Given the description of an element on the screen output the (x, y) to click on. 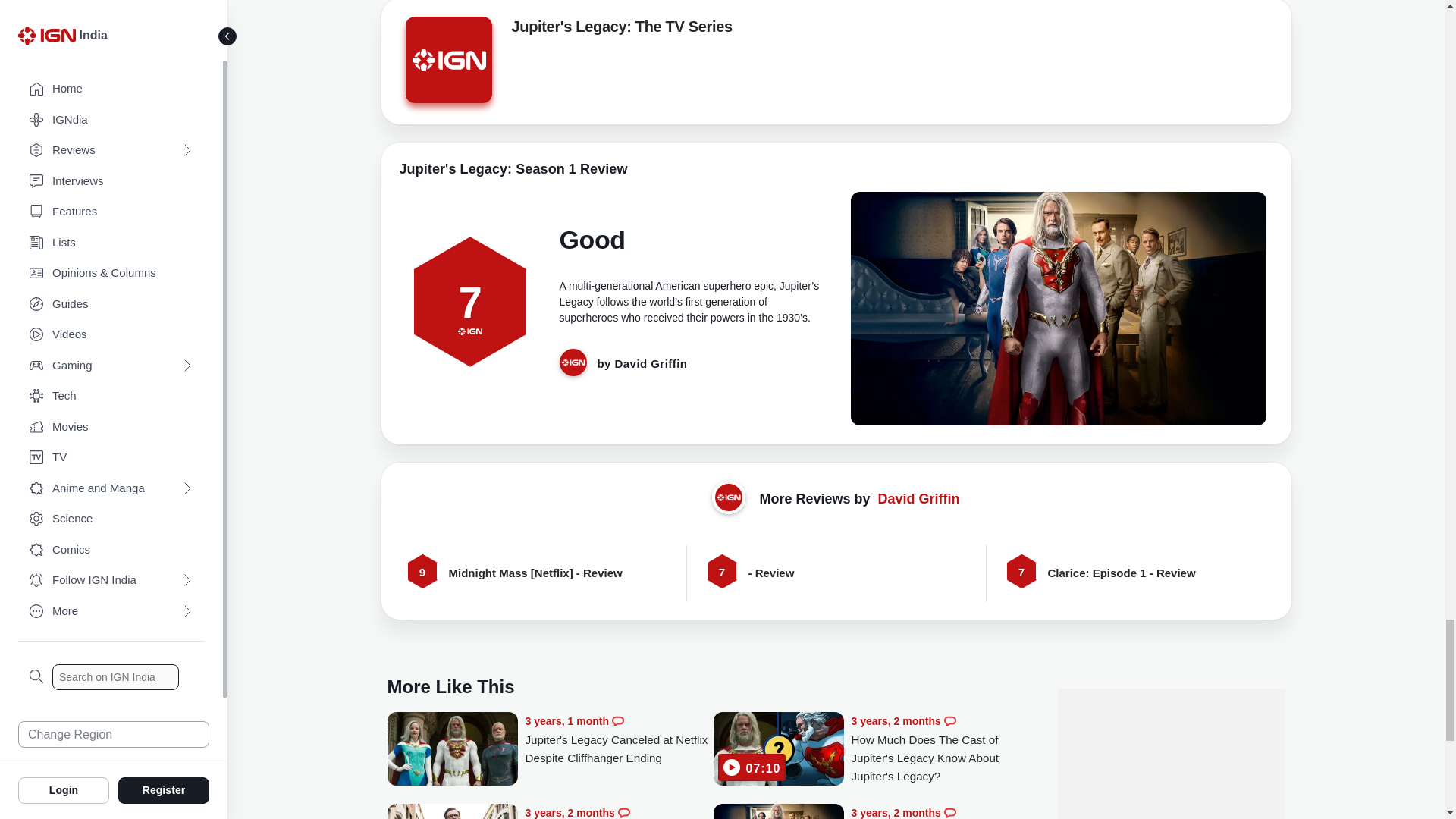
Jupiter's Legacy Cast: Superpowers Explained (944, 811)
Jupiter's Legacy: The TV Series (448, 64)
Jupiter's Legacy: The TV Series (621, 29)
Jupiter's Legacy Cast: Superpowers Explained (778, 811)
